Given the description of an element on the screen output the (x, y) to click on. 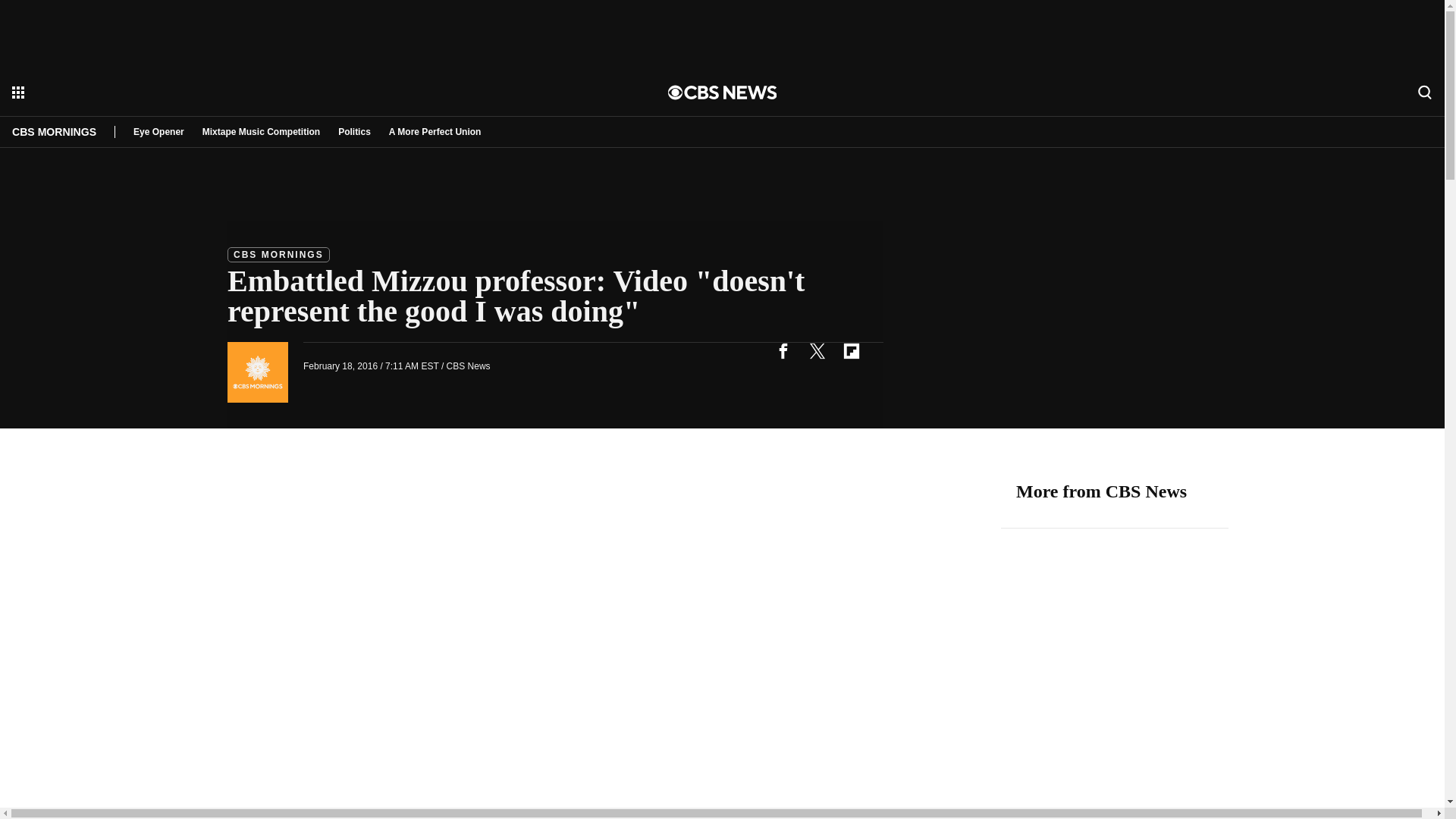
facebook (782, 350)
flipboard (850, 350)
twitter (816, 350)
